Given the description of an element on the screen output the (x, y) to click on. 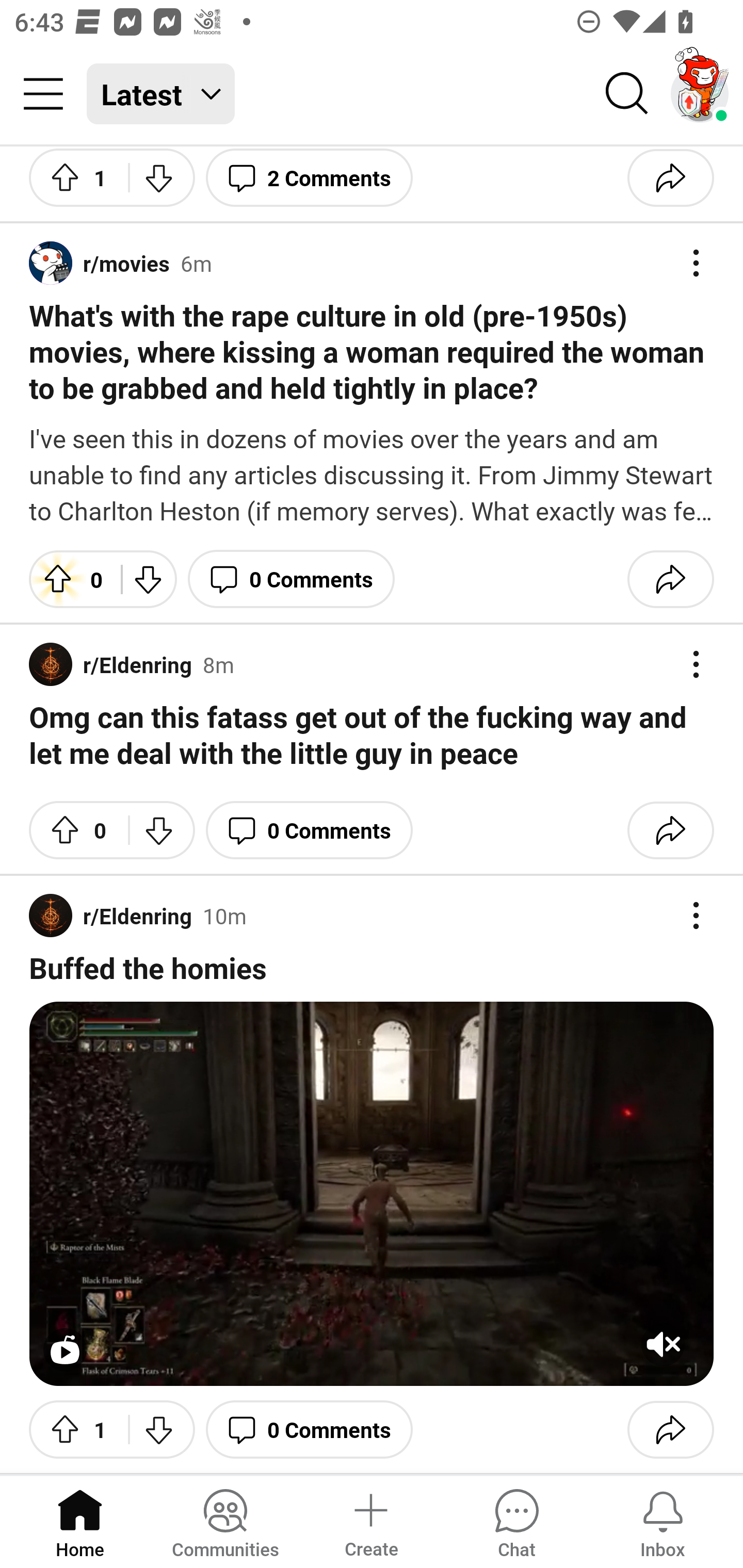
Community menu (43, 93)
Latest Latest feed (160, 93)
Search (626, 93)
TestAppium002 account (699, 93)
Unmute (371, 1193)
Unmute (663, 1345)
Home (80, 1520)
Communities (225, 1520)
Create a post Create (370, 1520)
Chat (516, 1520)
Inbox (662, 1520)
